Given the description of an element on the screen output the (x, y) to click on. 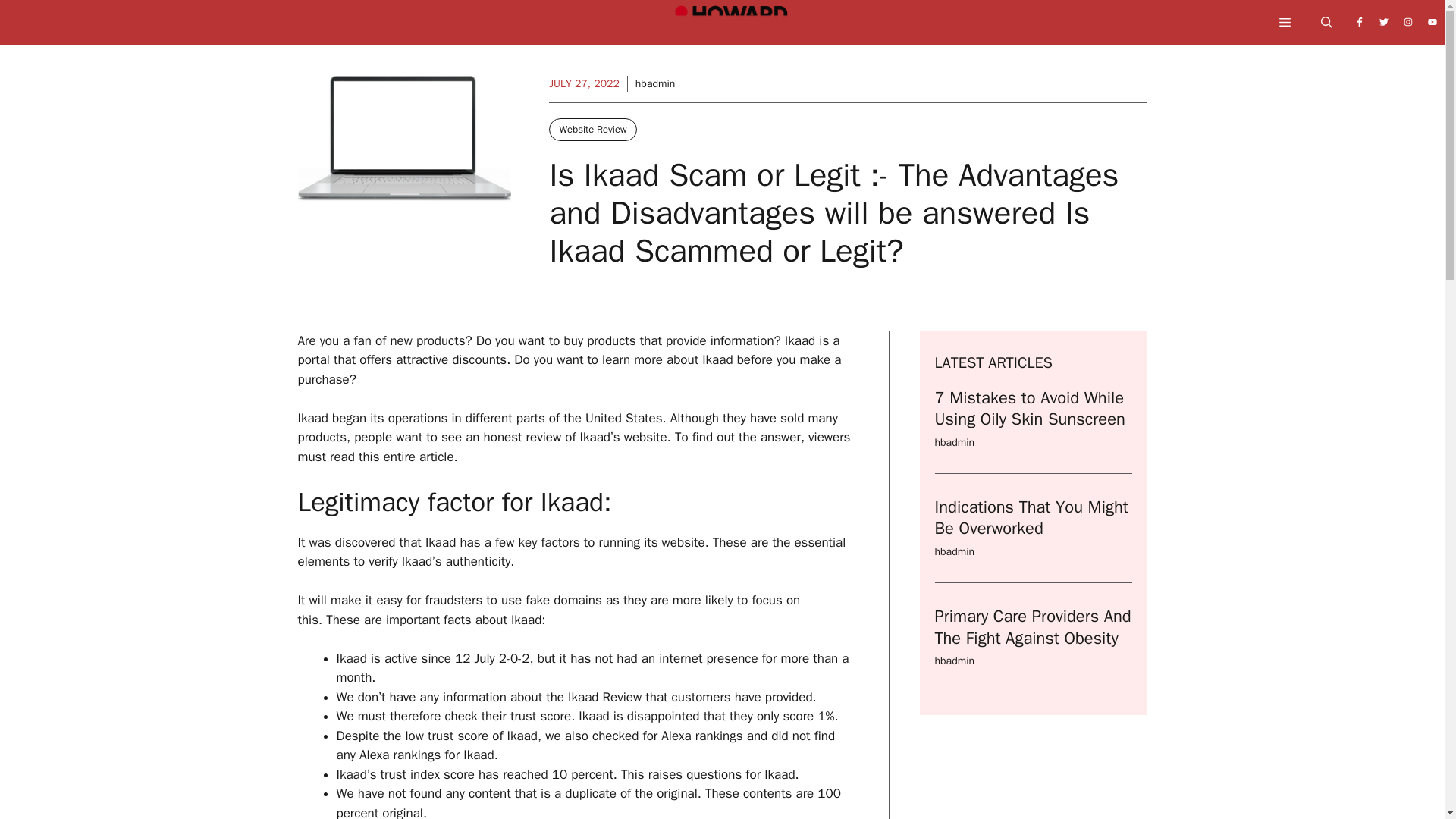
hbadmin (954, 551)
Primary Care Providers And The Fight Against Obesity (1032, 627)
hbadmin (954, 660)
7 Mistakes to Avoid While Using Oily Skin Sunscreen (1029, 408)
hbadmin (954, 441)
Howard University Bison (729, 26)
Indications That You Might Be Overworked (1030, 517)
hbadmin (654, 83)
Website Review (592, 128)
